Given the description of an element on the screen output the (x, y) to click on. 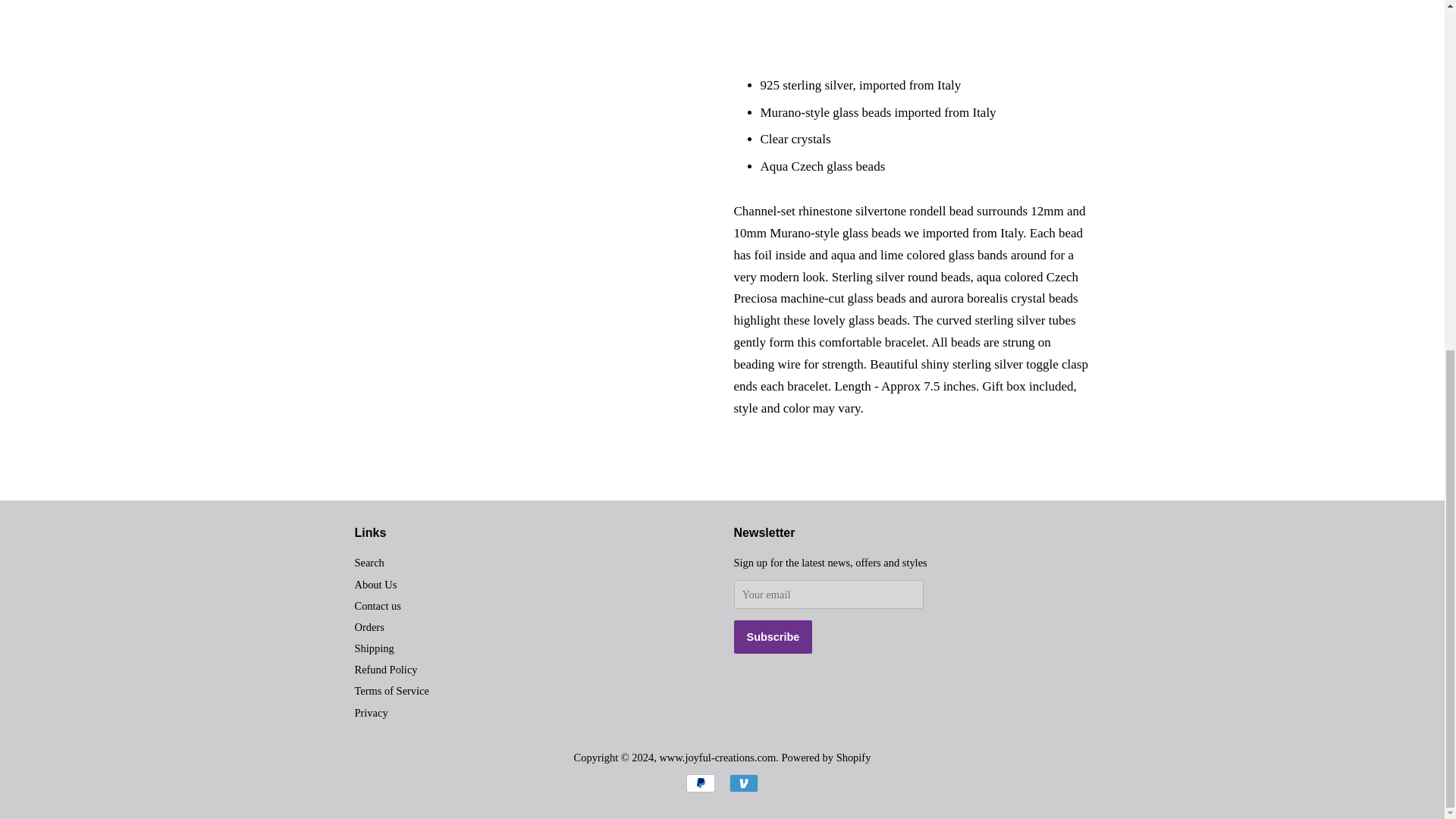
PayPal (699, 782)
Venmo (743, 782)
Subscribe (772, 636)
